Given the description of an element on the screen output the (x, y) to click on. 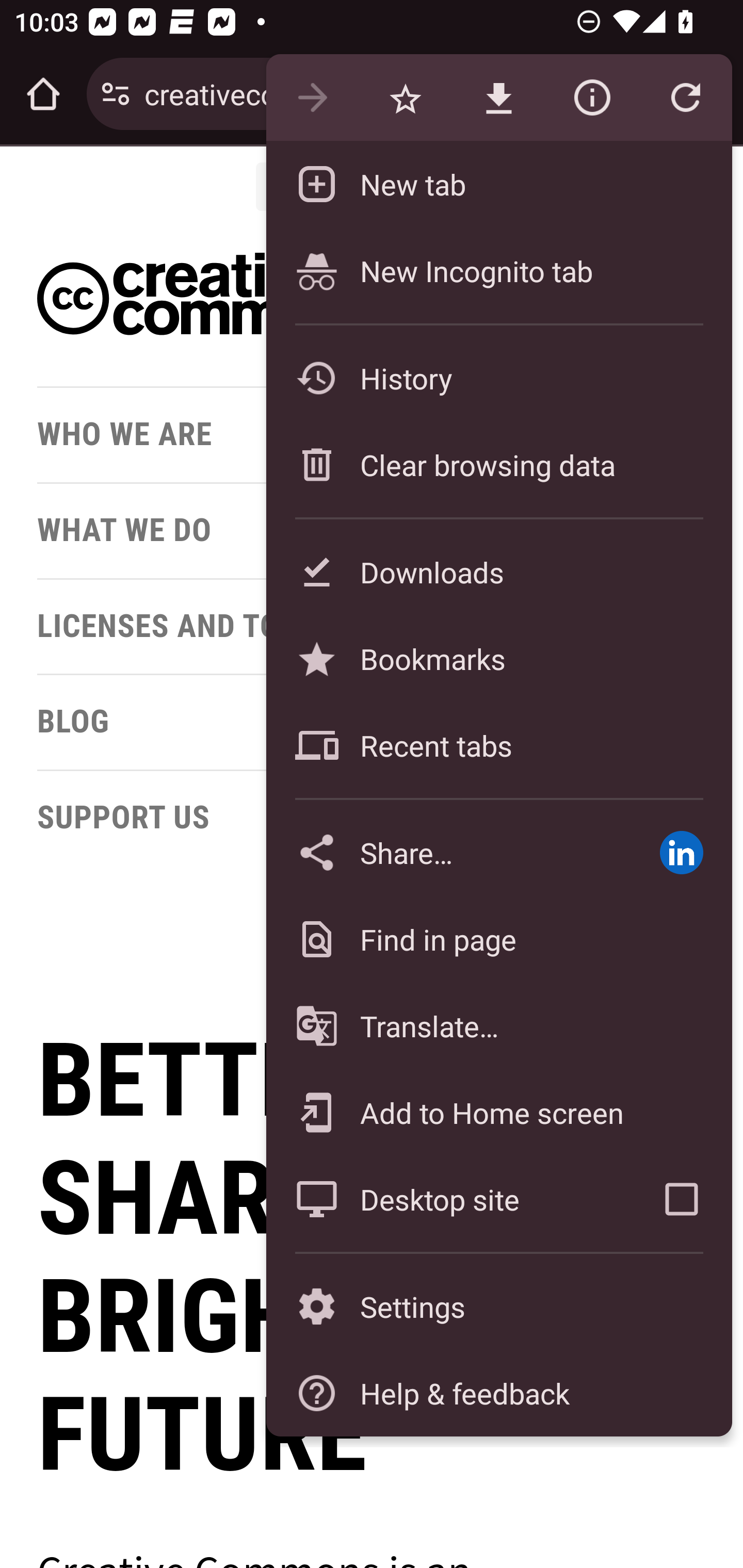
Forward (311, 97)
Bookmark (404, 97)
Download (498, 97)
Page info (591, 97)
Refresh (684, 97)
New tab (498, 184)
New Incognito tab (498, 270)
History (498, 377)
Clear browsing data (498, 464)
Downloads (498, 571)
Bookmarks (498, 658)
Recent tabs (498, 745)
Share… (447, 852)
Share via Share in a post (680, 852)
Find in page (498, 939)
Translate… (498, 1026)
Add to Home screen (498, 1112)
Desktop site Turn on Request desktop site (447, 1198)
Settings (498, 1306)
Help & feedback (498, 1393)
